Given the description of an element on the screen output the (x, y) to click on. 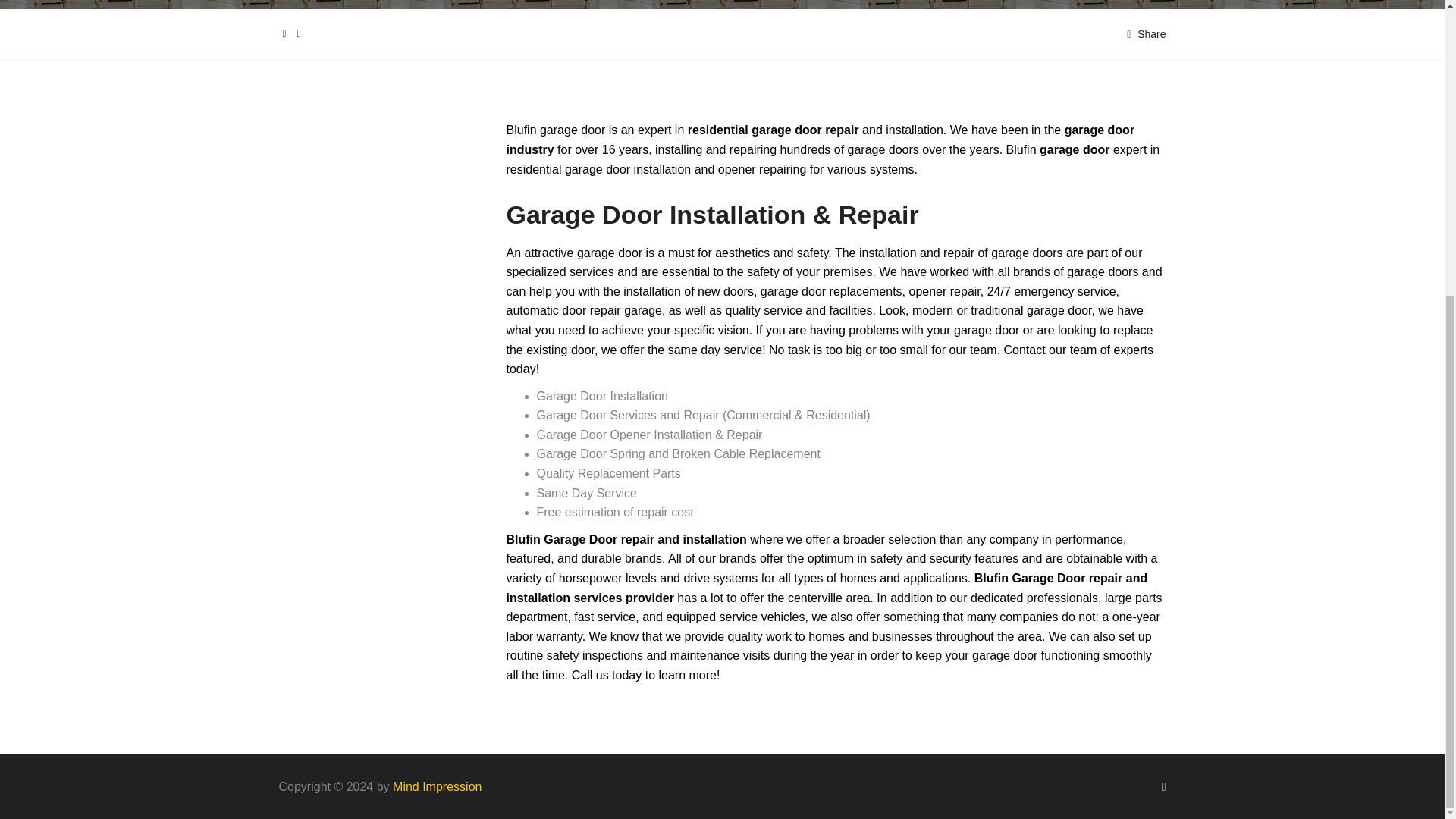
Mind Impression (437, 786)
